Given the description of an element on the screen output the (x, y) to click on. 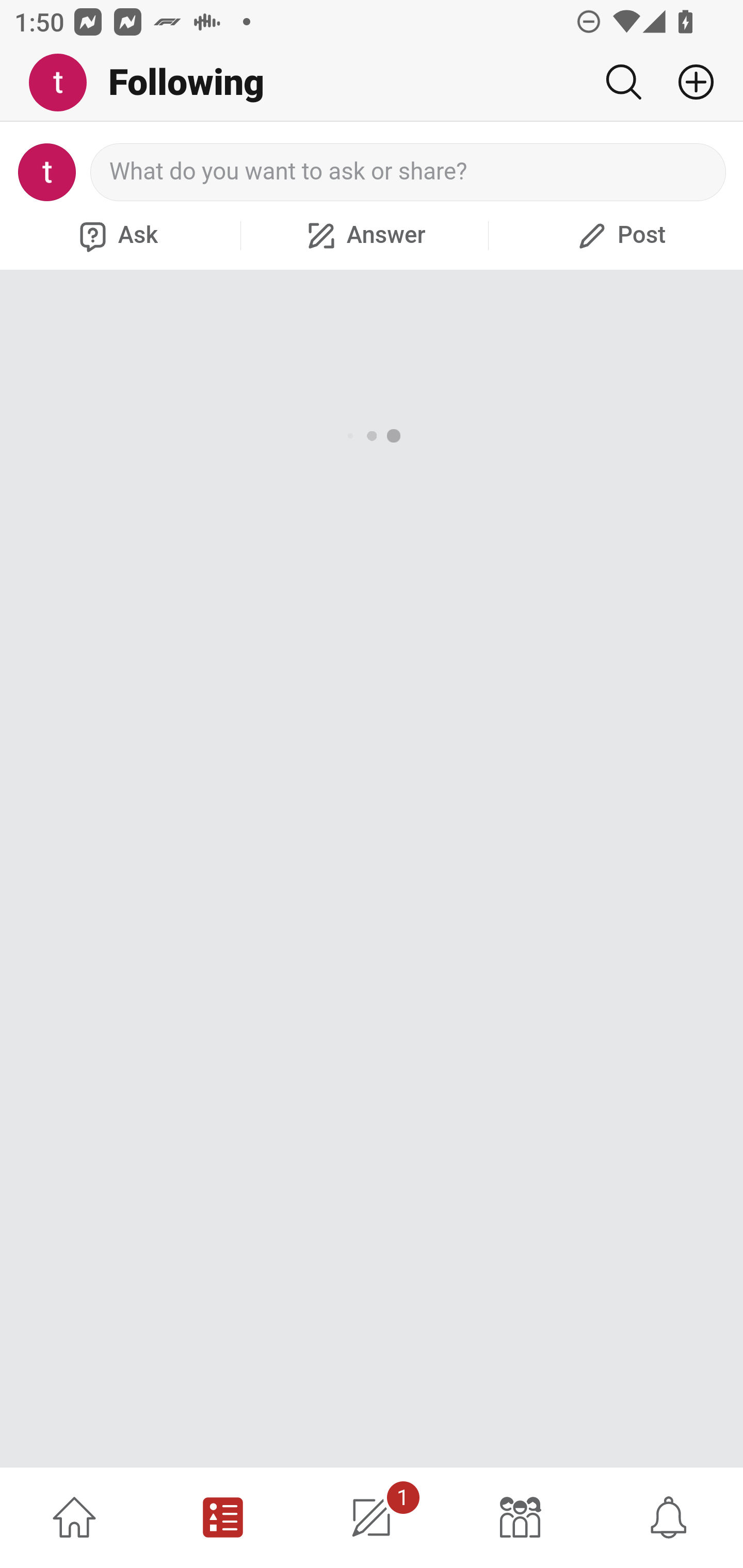
Me (64, 83)
Search (623, 82)
Add (688, 82)
What do you want to ask or share? (408, 172)
Ask (116, 234)
Answer (364, 234)
Post (618, 234)
1 (371, 1517)
